Given the description of an element on the screen output the (x, y) to click on. 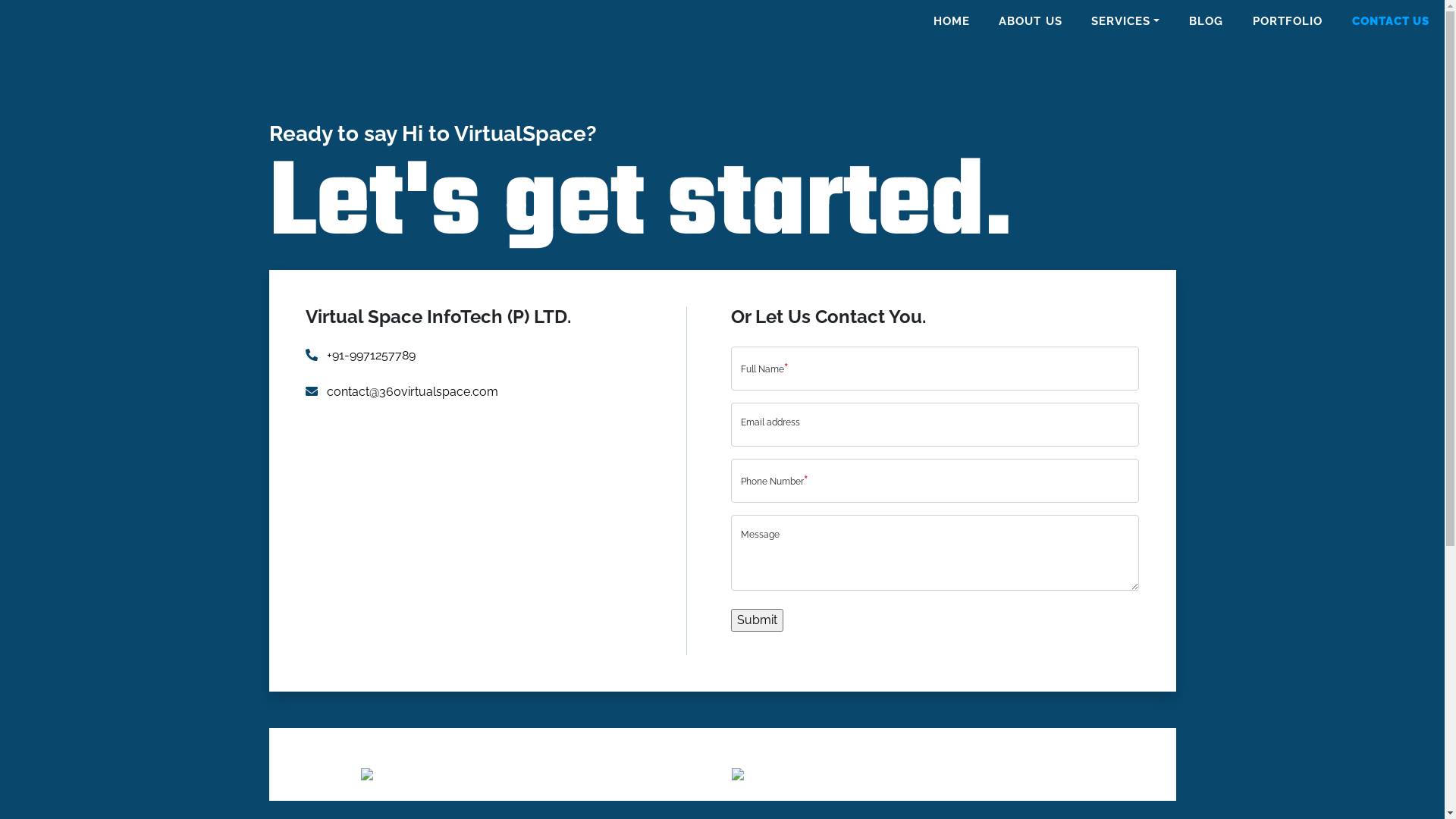
PORTFOLIO Element type: text (1287, 21)
BLOG Element type: text (1206, 21)
Submit Element type: text (757, 619)
contact@360virtualspace.com Element type: text (400, 391)
HOME Element type: text (951, 21)
ABOUT US Element type: text (1029, 21)
+91-9971257789 Element type: text (359, 355)
CONTACT US Element type: text (1390, 21)
SERVICES Element type: text (1125, 21)
